Given the description of an element on the screen output the (x, y) to click on. 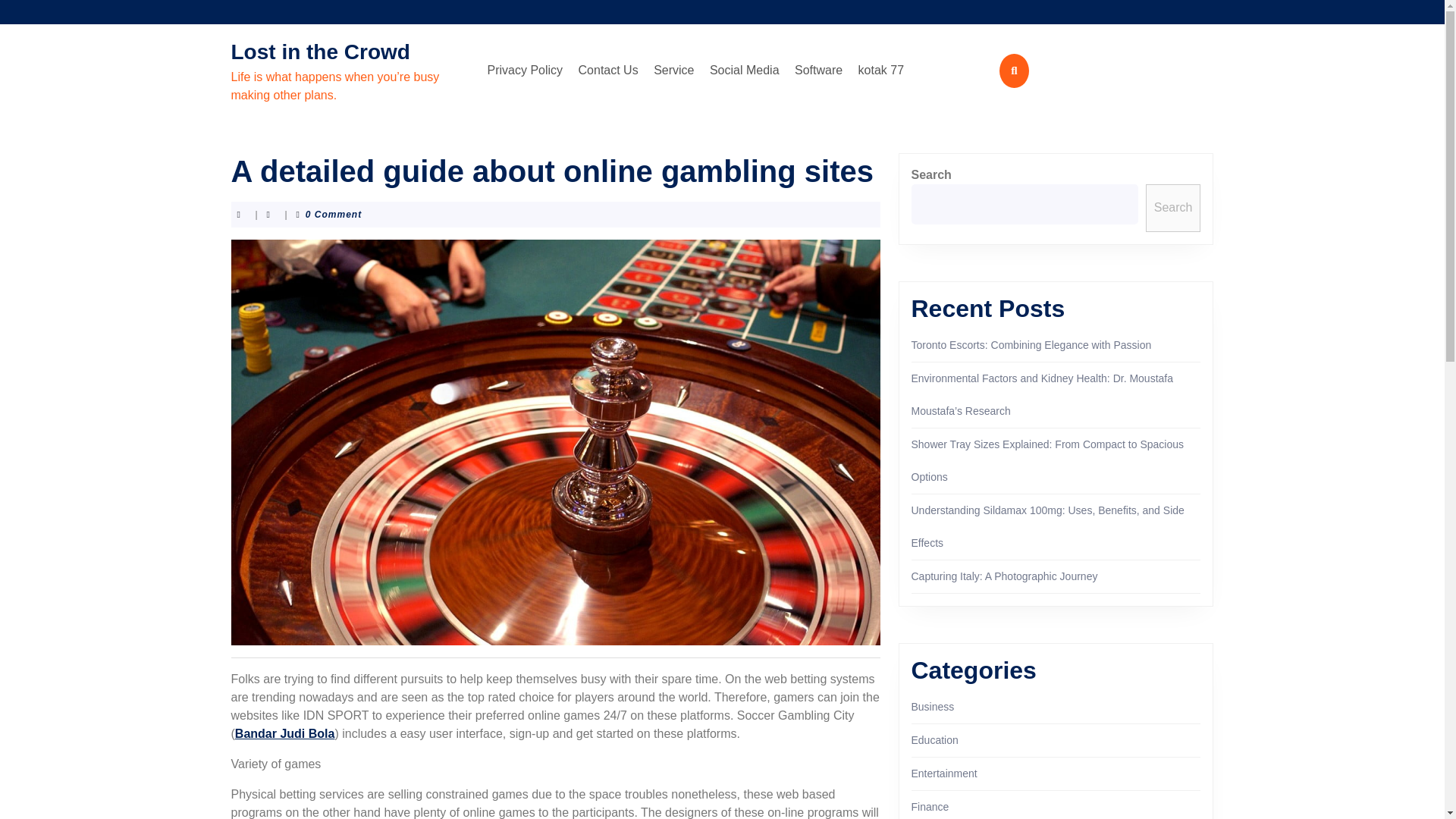
Business (933, 706)
Search (1173, 207)
Bandar Judi Bola (284, 733)
Entertainment (943, 773)
Contact Us (608, 70)
Service (673, 70)
kotak 77 (880, 70)
Social Media (744, 70)
Privacy Policy (524, 70)
Education (934, 739)
Toronto Escorts: Combining Elegance with Passion (1031, 345)
Finance (930, 806)
Lost in the Crowd (319, 51)
